Given the description of an element on the screen output the (x, y) to click on. 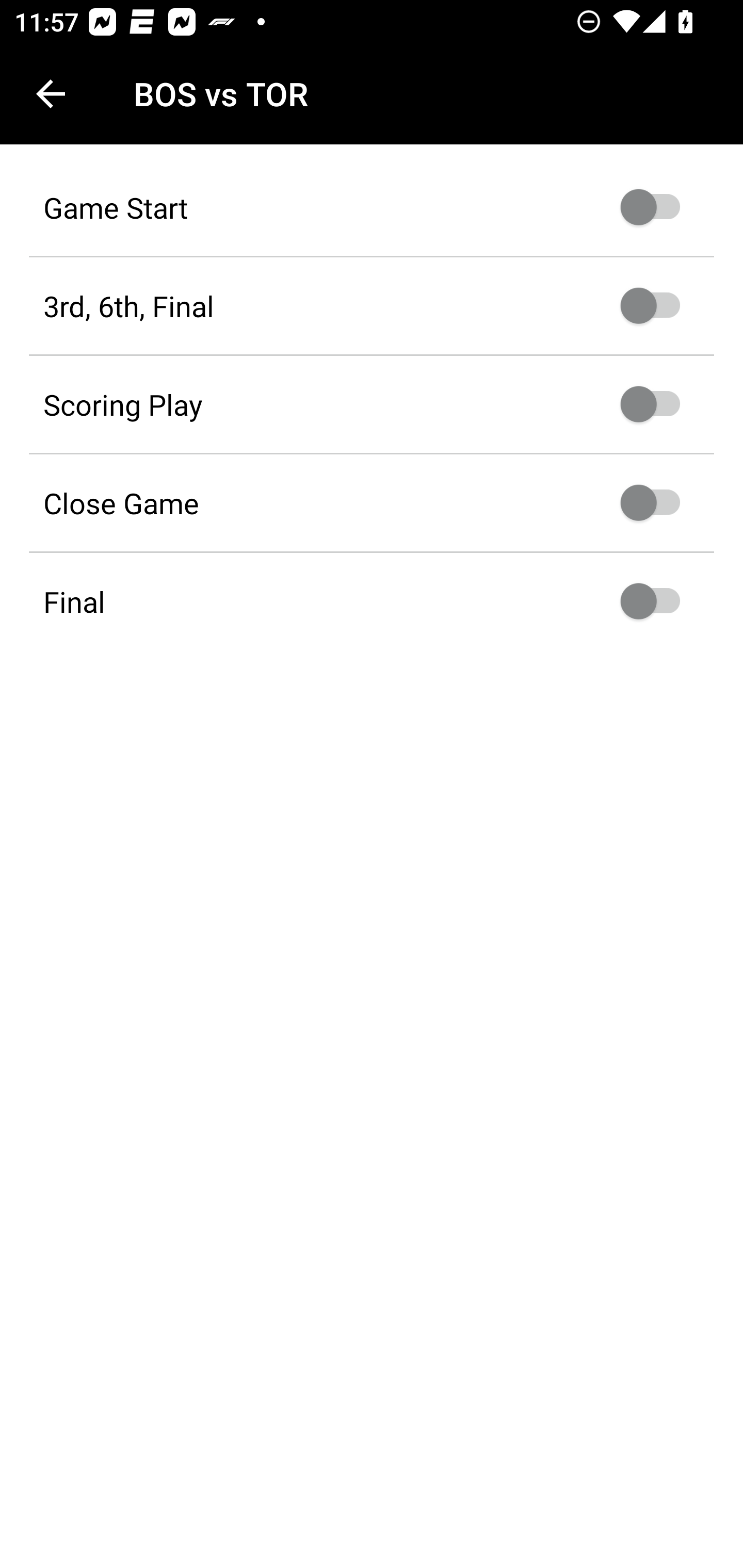
Navigate up (50, 93)
